Given the description of an element on the screen output the (x, y) to click on. 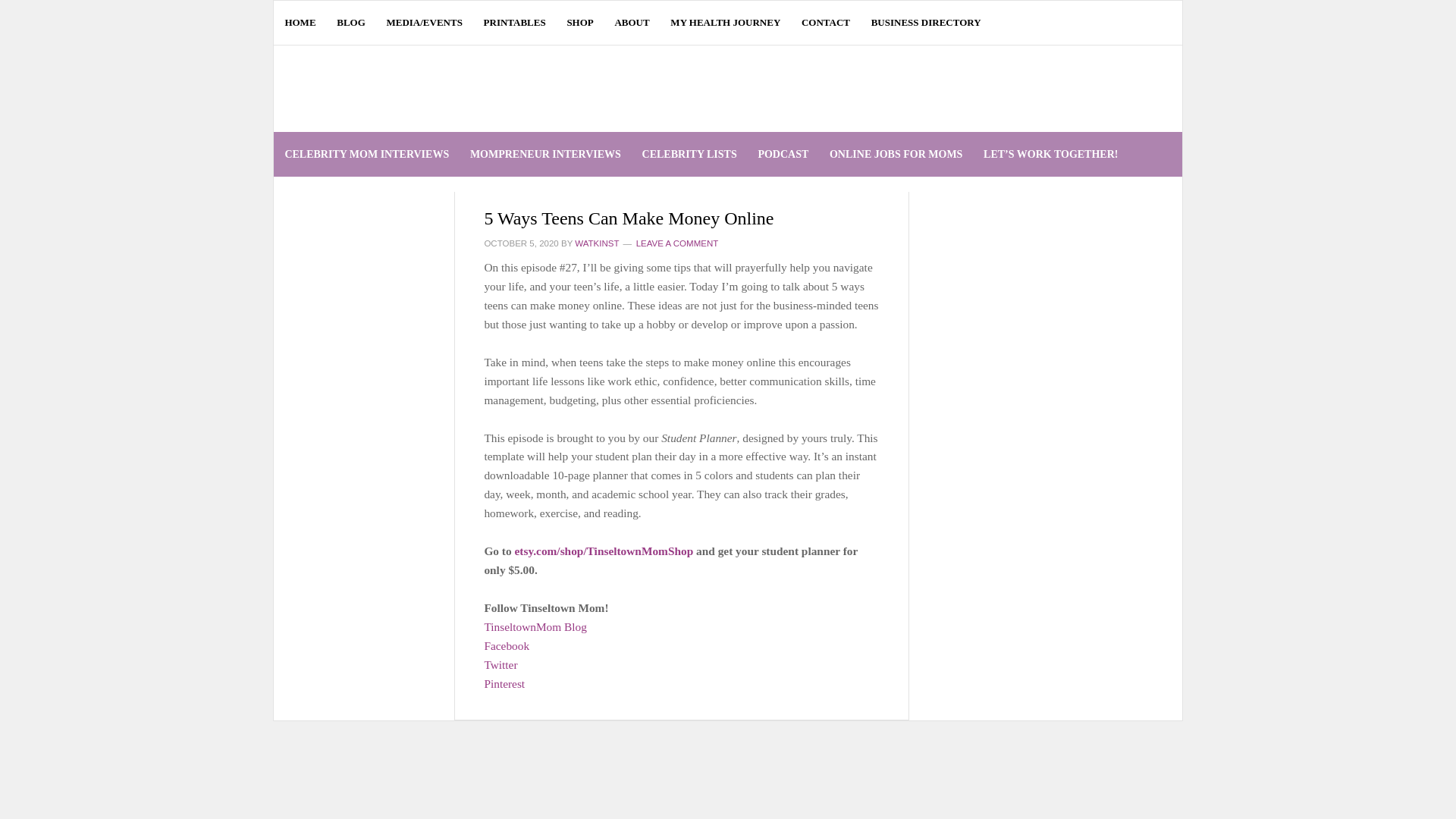
Twitter (499, 664)
CELEBRITY MOM INTERVIEWS (366, 153)
TinseltownMom Blog (534, 626)
SHOP (580, 22)
MOMPRENEUR INTERVIEWS (544, 153)
Facebook (506, 645)
WATKINST (596, 243)
ABOUT (632, 22)
TINSELTOWN MOM (439, 88)
ONLINE JOBS FOR MOMS (896, 153)
LEAVE A COMMENT (677, 243)
CELEBRITY LISTS (689, 153)
PODCAST (782, 153)
HOME (299, 22)
Pinterest (503, 683)
